Given the description of an element on the screen output the (x, y) to click on. 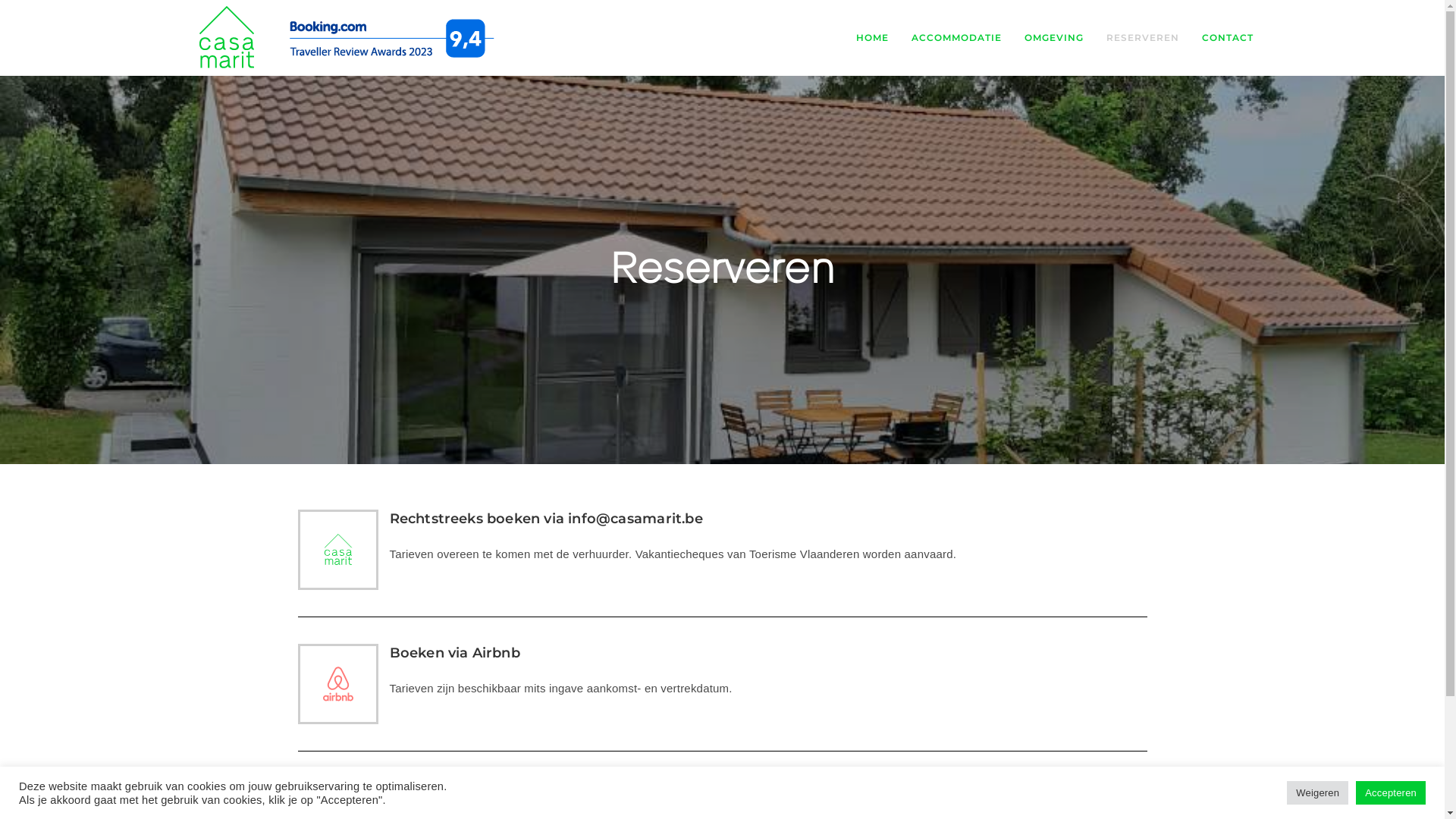
Rechtstreeks boeken via info@casamarit.be Element type: text (545, 518)
HOME Element type: text (872, 37)
Boeken via Airbnb Element type: text (454, 652)
Accepteren Element type: text (1390, 792)
Boeken via Booking.com Element type: text (478, 786)
RESERVEREN Element type: text (1142, 37)
Weigeren Element type: text (1317, 792)
ACCOMMODATIE Element type: text (955, 37)
CONTACT Element type: text (1227, 37)
OMGEVING Element type: text (1054, 37)
